Given the description of an element on the screen output the (x, y) to click on. 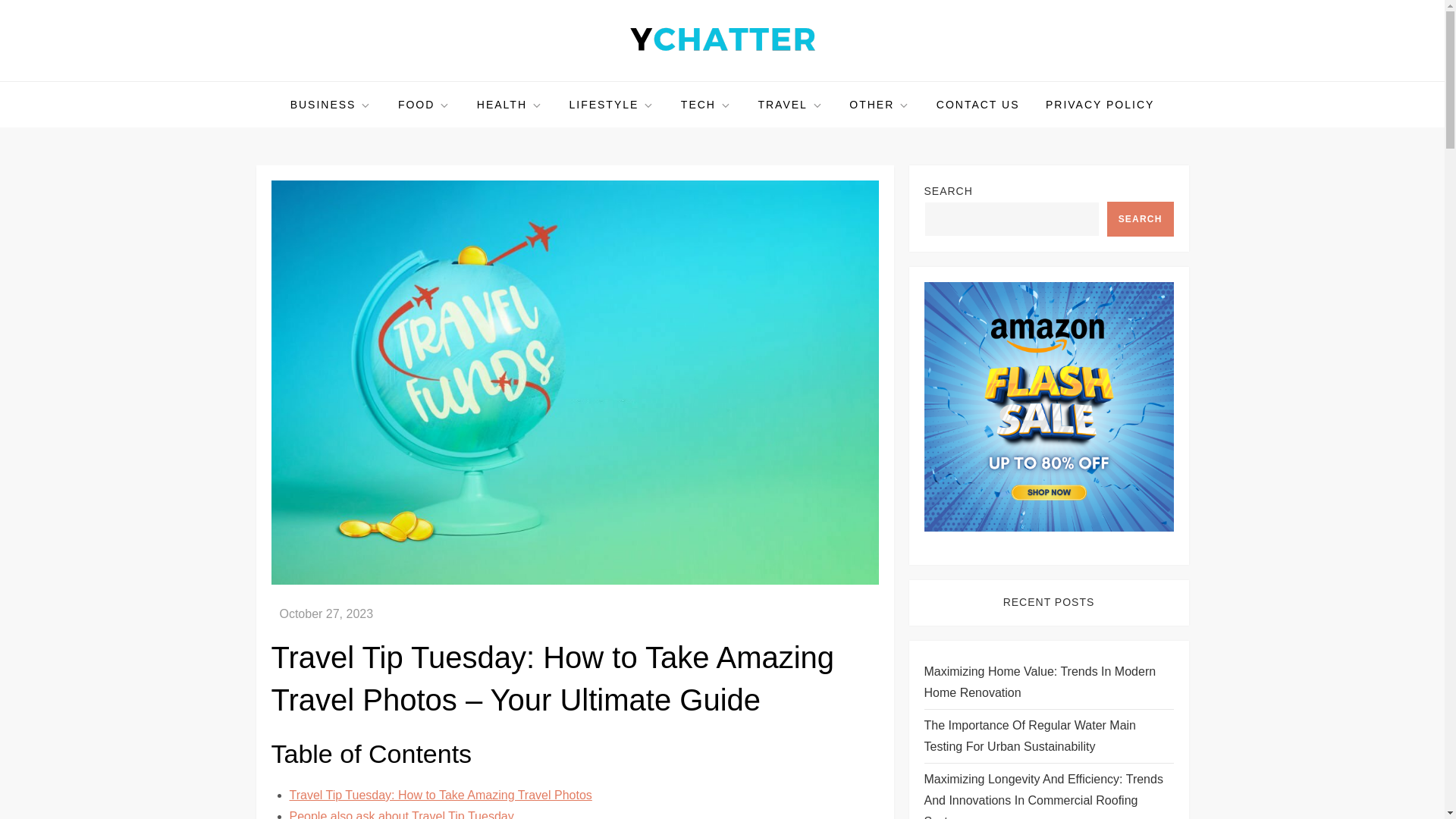
TRAVEL (789, 104)
Ychatter: A Treasure Trove of Knowledge and Wonder (617, 80)
LIFESTYLE (611, 104)
HEALTH (509, 104)
TECH (705, 104)
FOOD (424, 104)
BUSINESS (331, 104)
OTHER (879, 104)
